Given the description of an element on the screen output the (x, y) to click on. 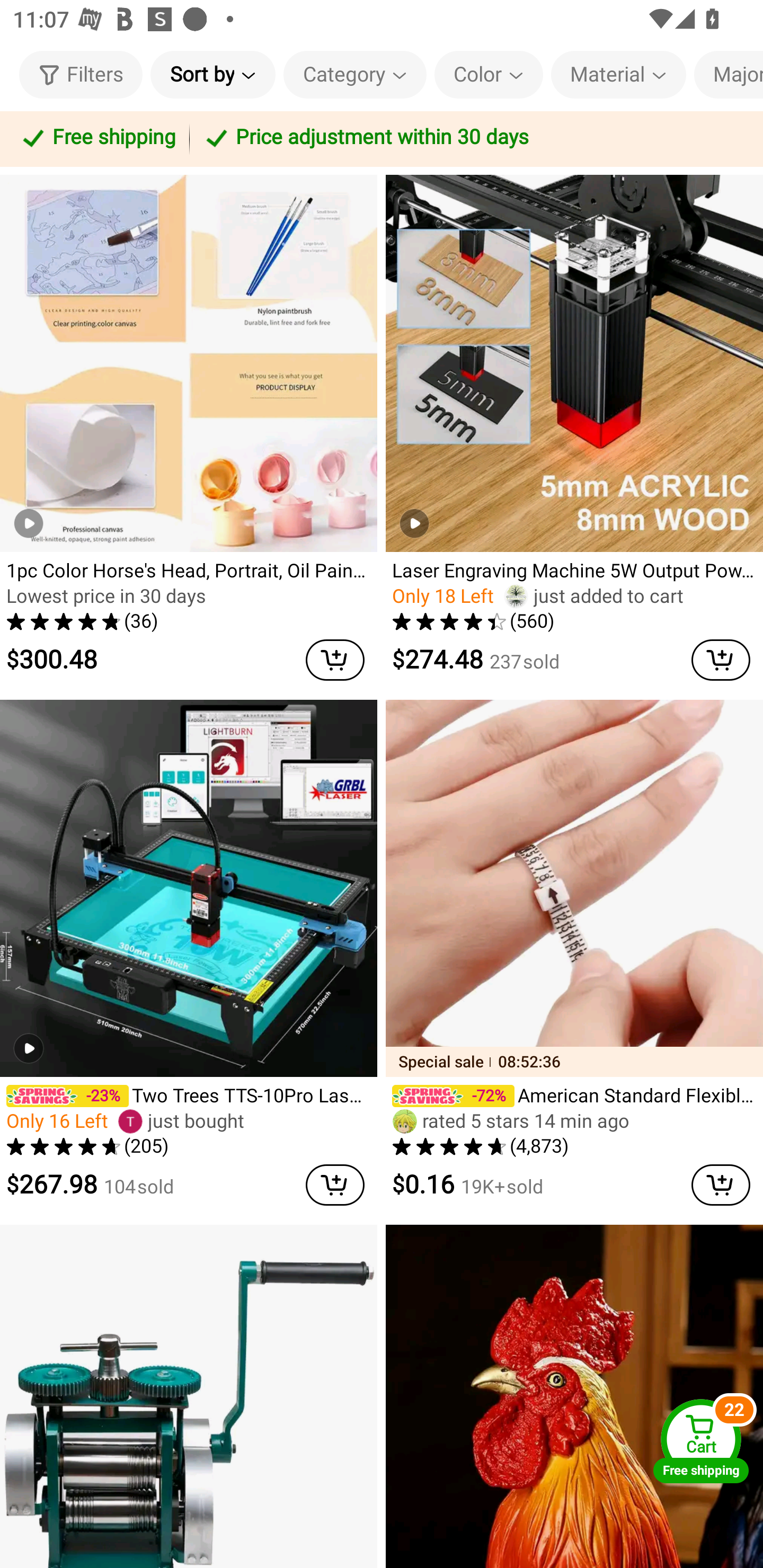
Filters (80, 74)
Sort by (212, 74)
Category (354, 74)
Color (488, 74)
Material (617, 74)
Free shipping (97, 138)
Price adjustment within 30 days (472, 138)
cart delete (334, 659)
cart delete (720, 659)
cart delete (334, 1185)
cart delete (720, 1185)
Cart Free shipping Cart (701, 1440)
